Given the description of an element on the screen output the (x, y) to click on. 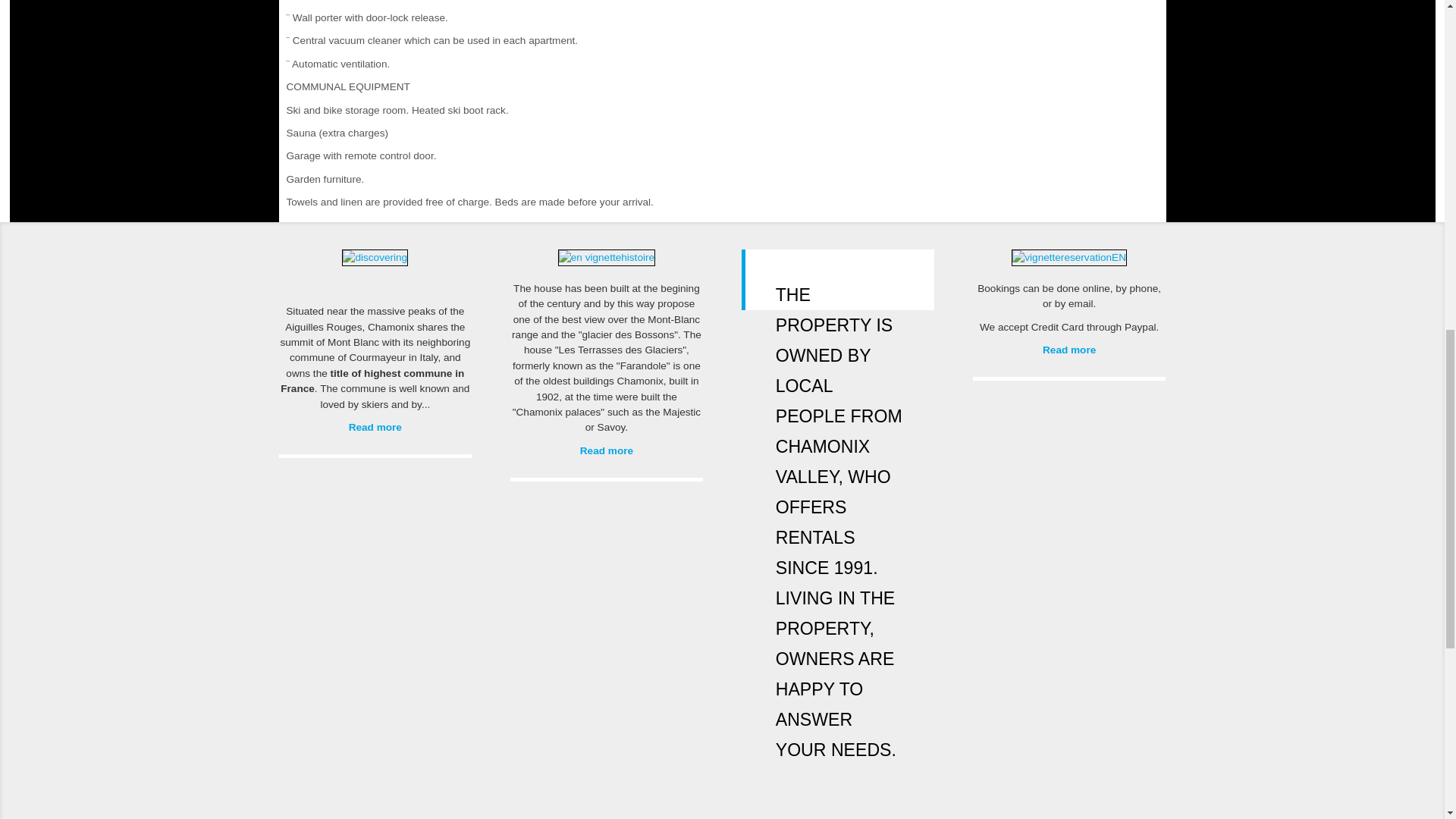
Read more (375, 427)
Read more (606, 450)
Read more (1069, 349)
